Given the description of an element on the screen output the (x, y) to click on. 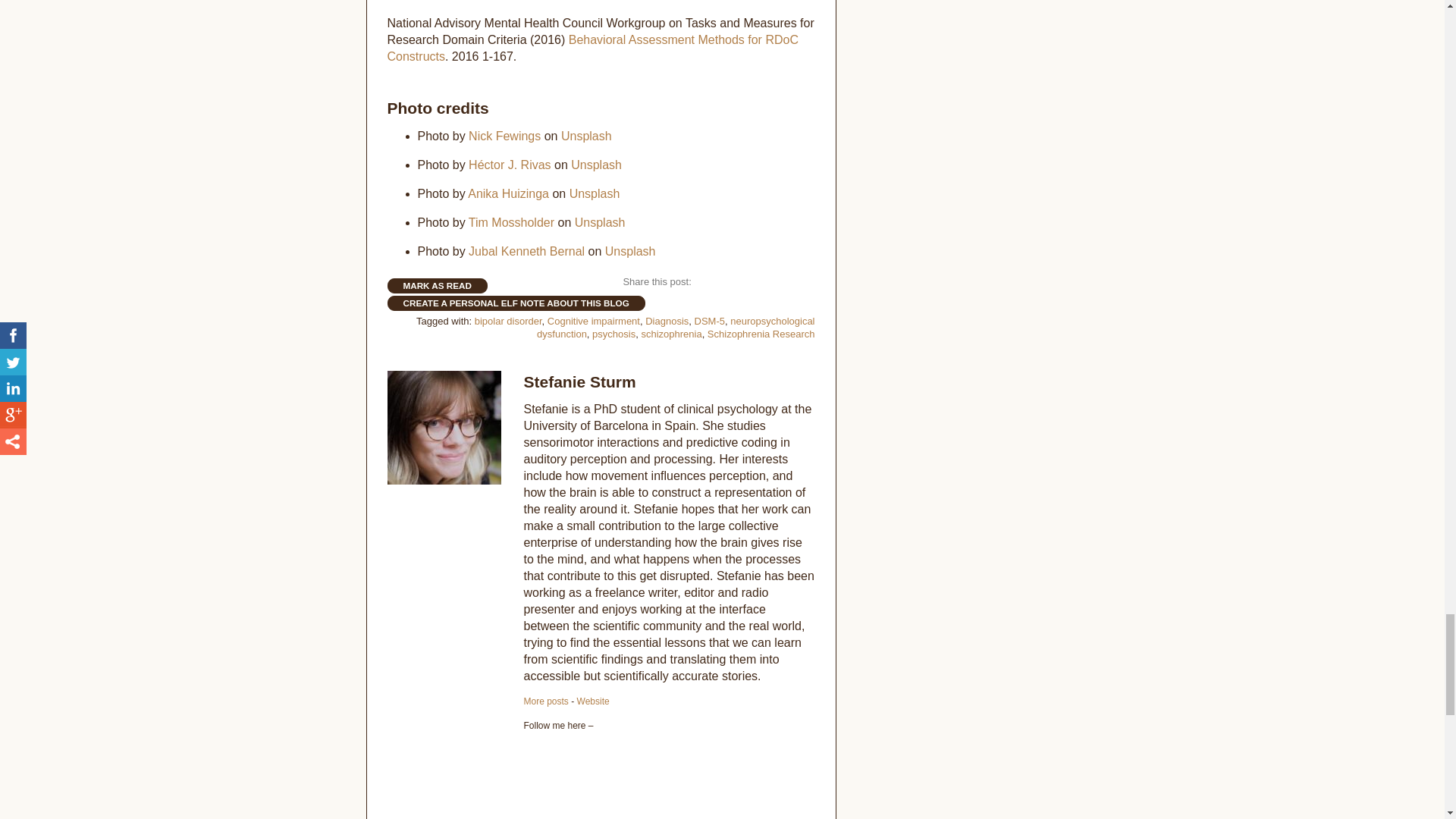
Share on LinkedIn (753, 282)
Twitter (531, 751)
Share on Facebook (705, 282)
Share via email (801, 282)
Stefanie Sturm (544, 701)
Tweet this on Twitter (730, 282)
Stefanie Sturm (578, 381)
